Given the description of an element on the screen output the (x, y) to click on. 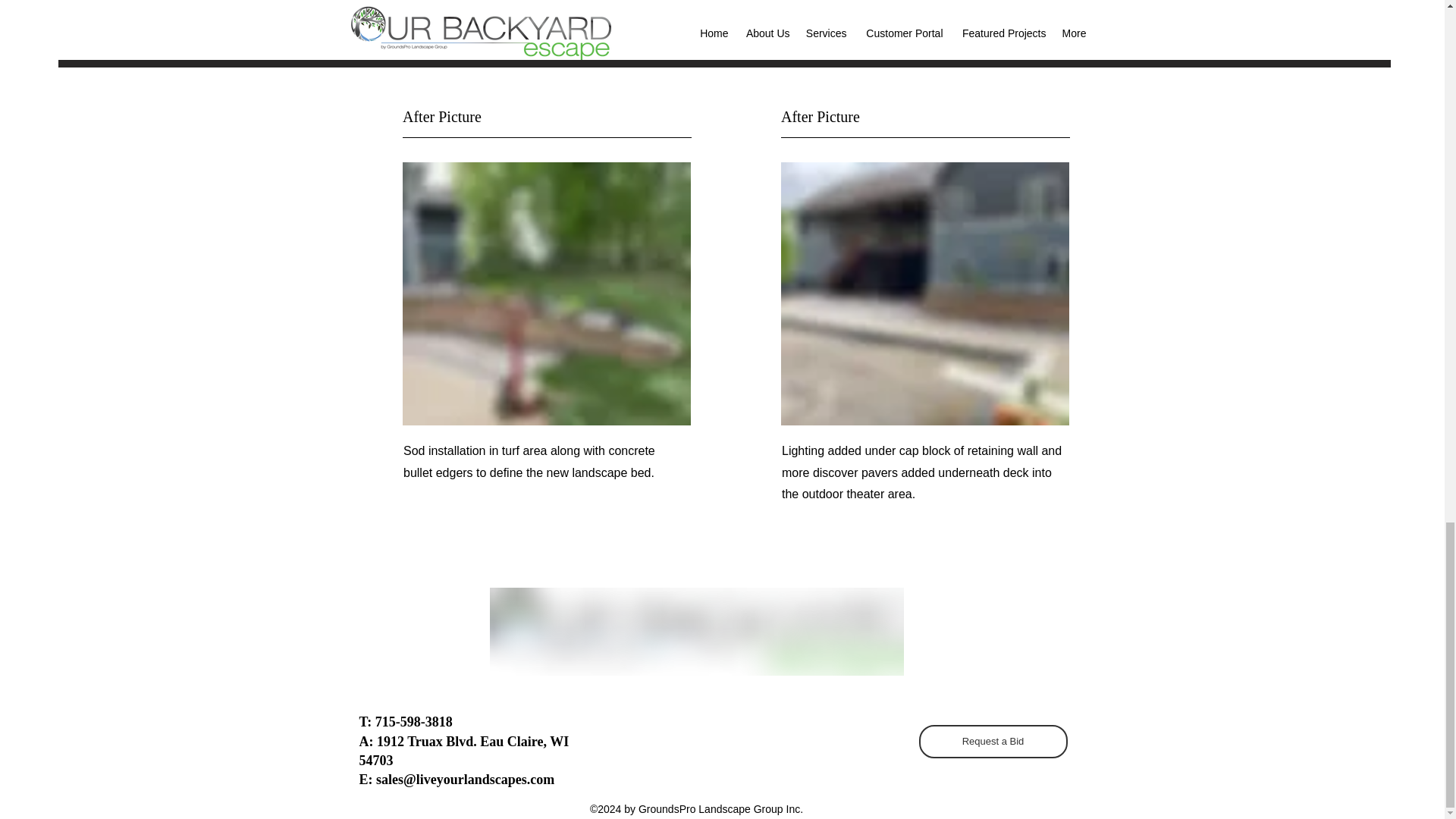
Request a Bid (992, 741)
